Given the description of an element on the screen output the (x, y) to click on. 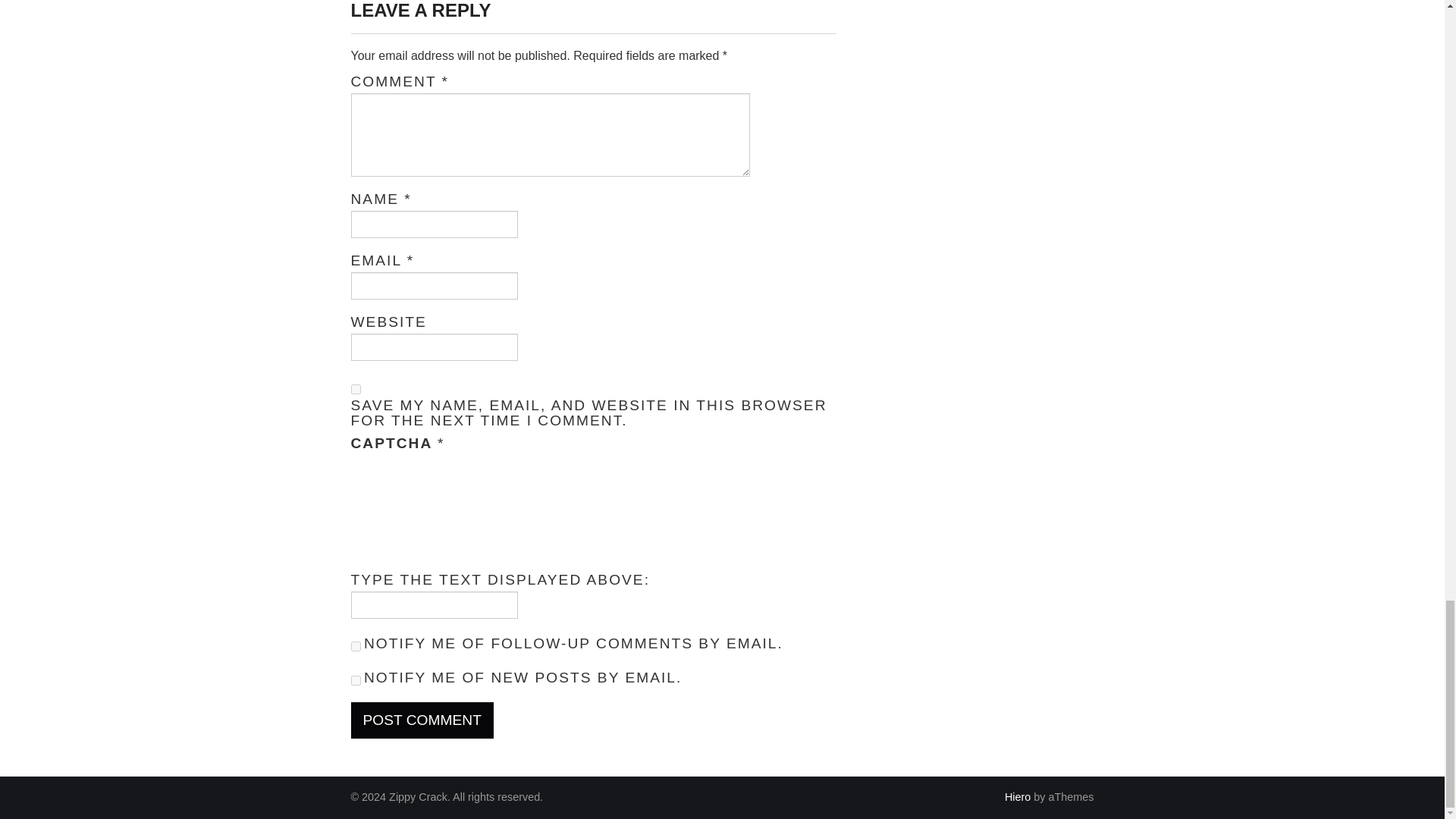
Post Comment (421, 719)
subscribe (354, 680)
Post Comment (421, 719)
subscribe (354, 646)
yes (354, 388)
